Given the description of an element on the screen output the (x, y) to click on. 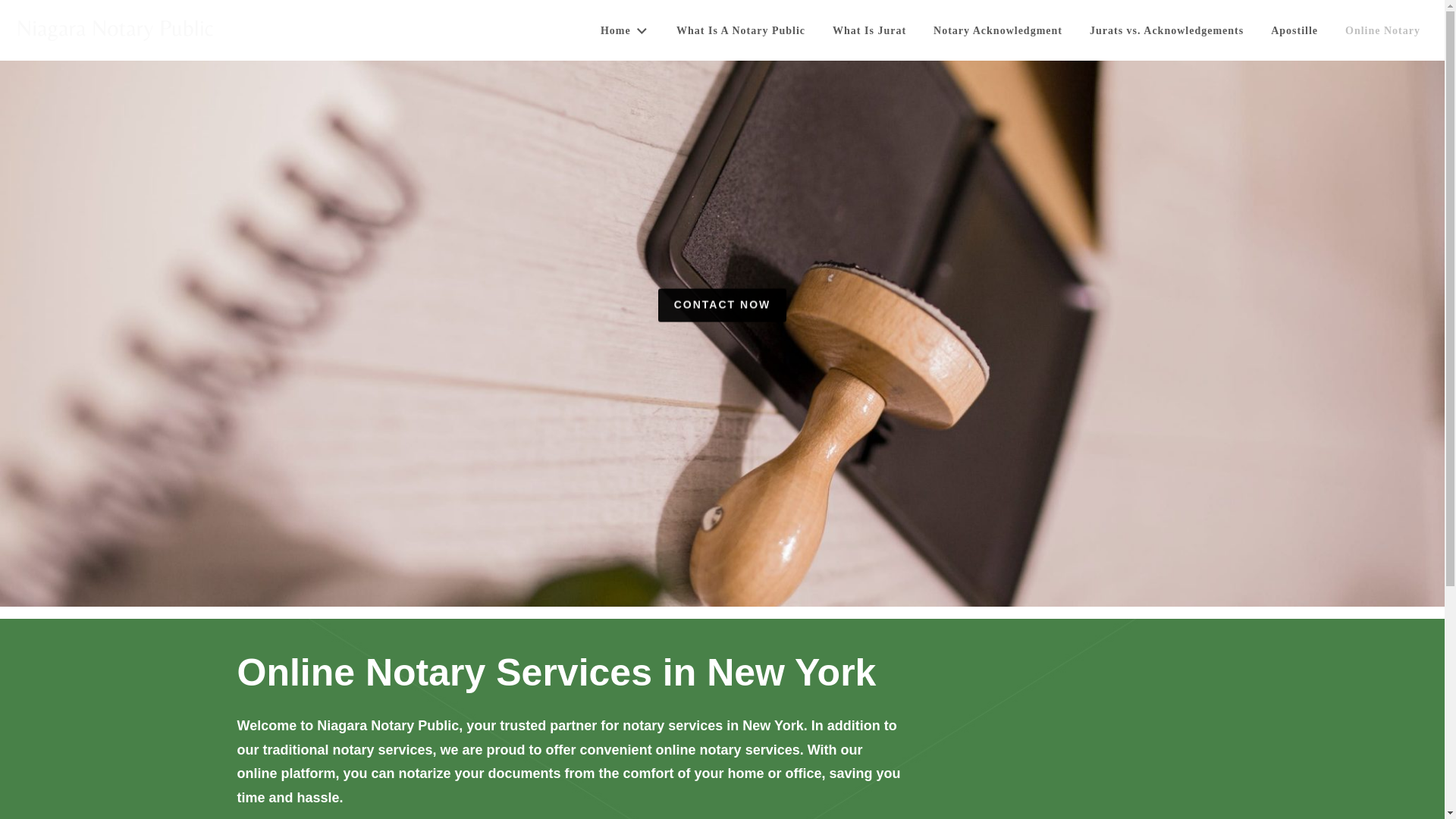
Jurats vs. Acknowledgements (1166, 30)
CONTACT NOW (722, 305)
What Is A Notary Public (739, 30)
Apostille (1294, 30)
What Is Jurat (869, 30)
Home (624, 30)
Online Notary (1382, 30)
Notary Acknowledgment (997, 30)
